Given the description of an element on the screen output the (x, y) to click on. 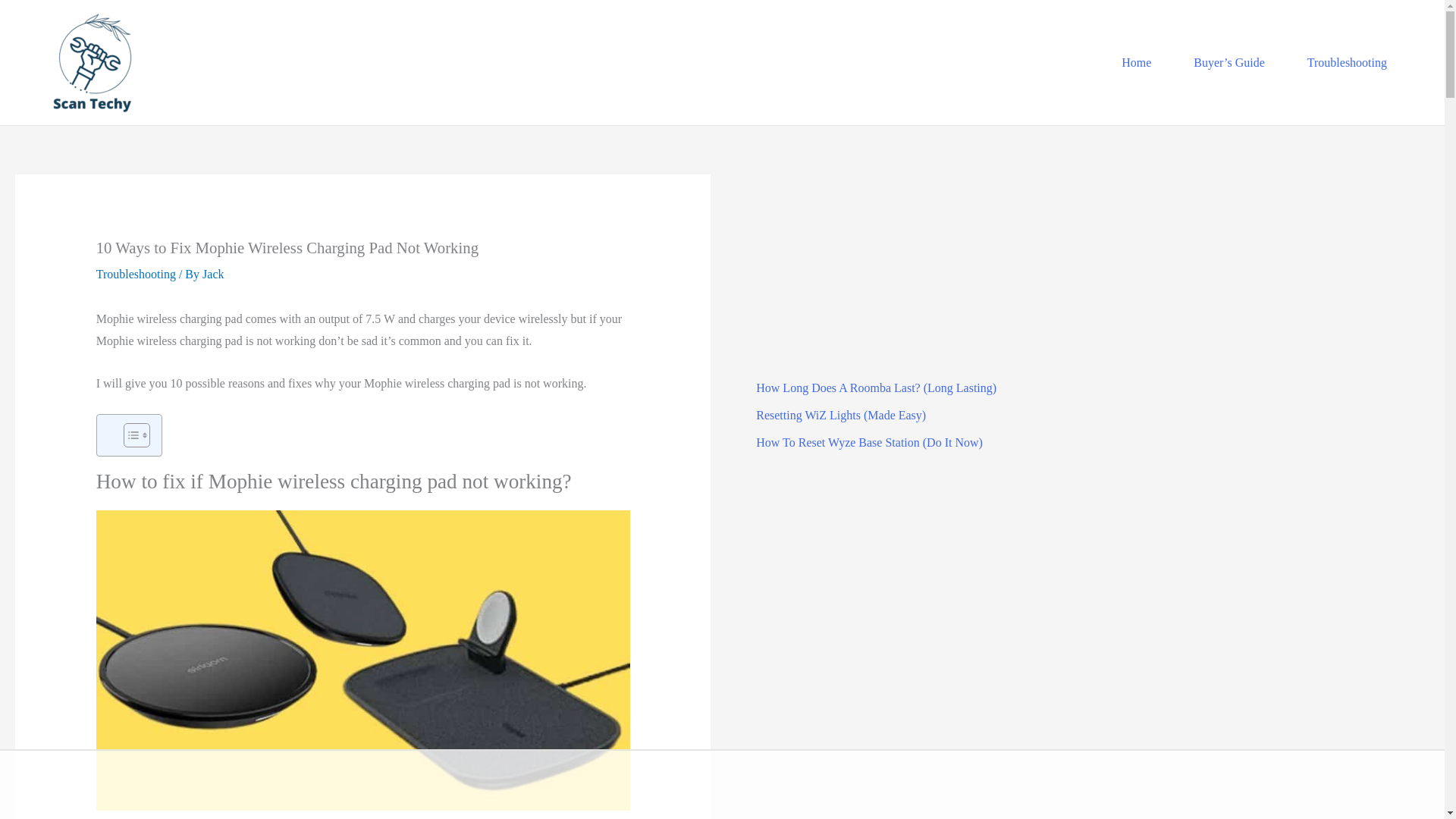
Jack (213, 273)
Troubleshooting (1337, 61)
Home (1126, 61)
Troubleshooting (136, 273)
View all posts by Jack (213, 273)
